Given the description of an element on the screen output the (x, y) to click on. 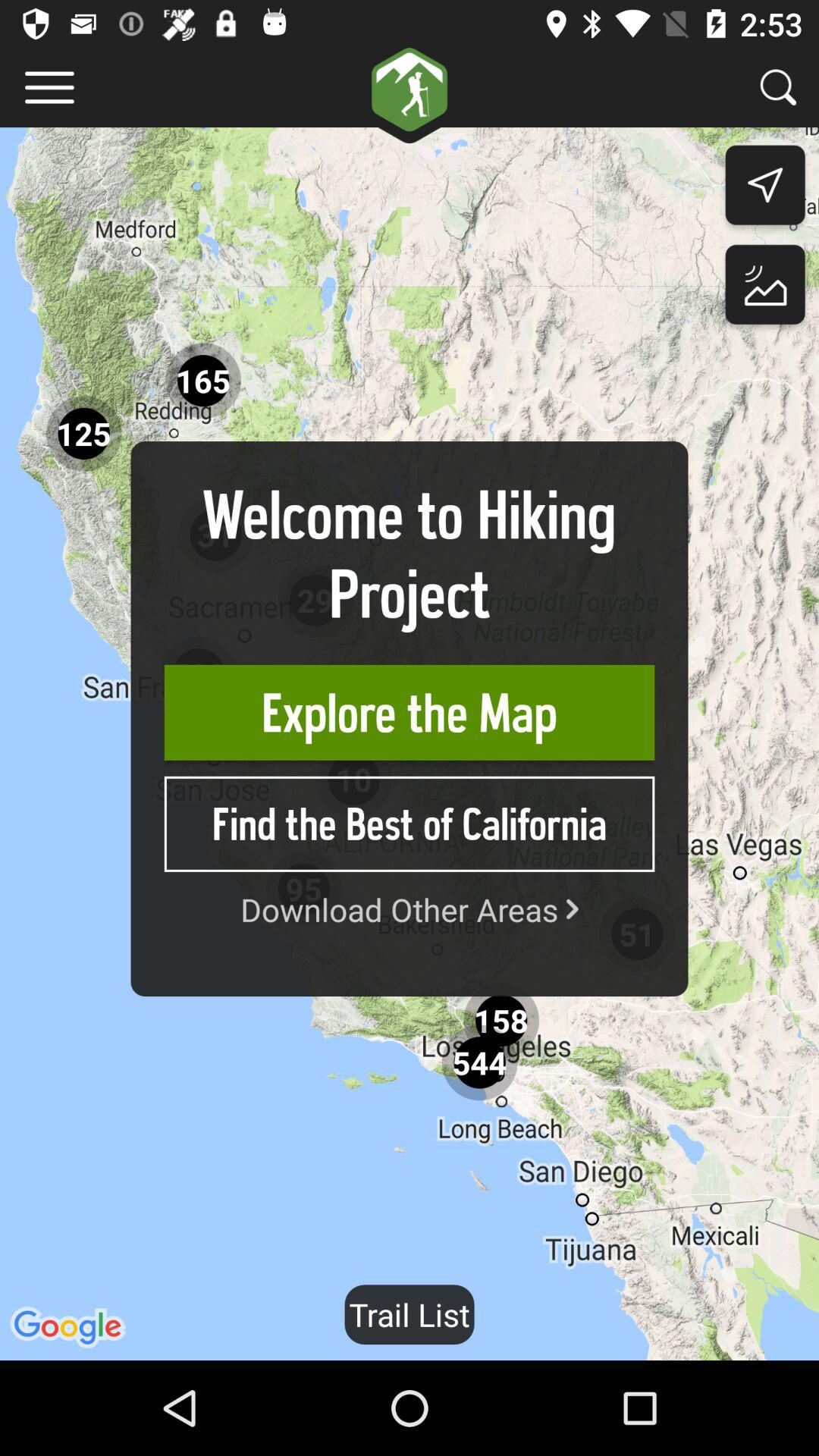
search (778, 87)
